Given the description of an element on the screen output the (x, y) to click on. 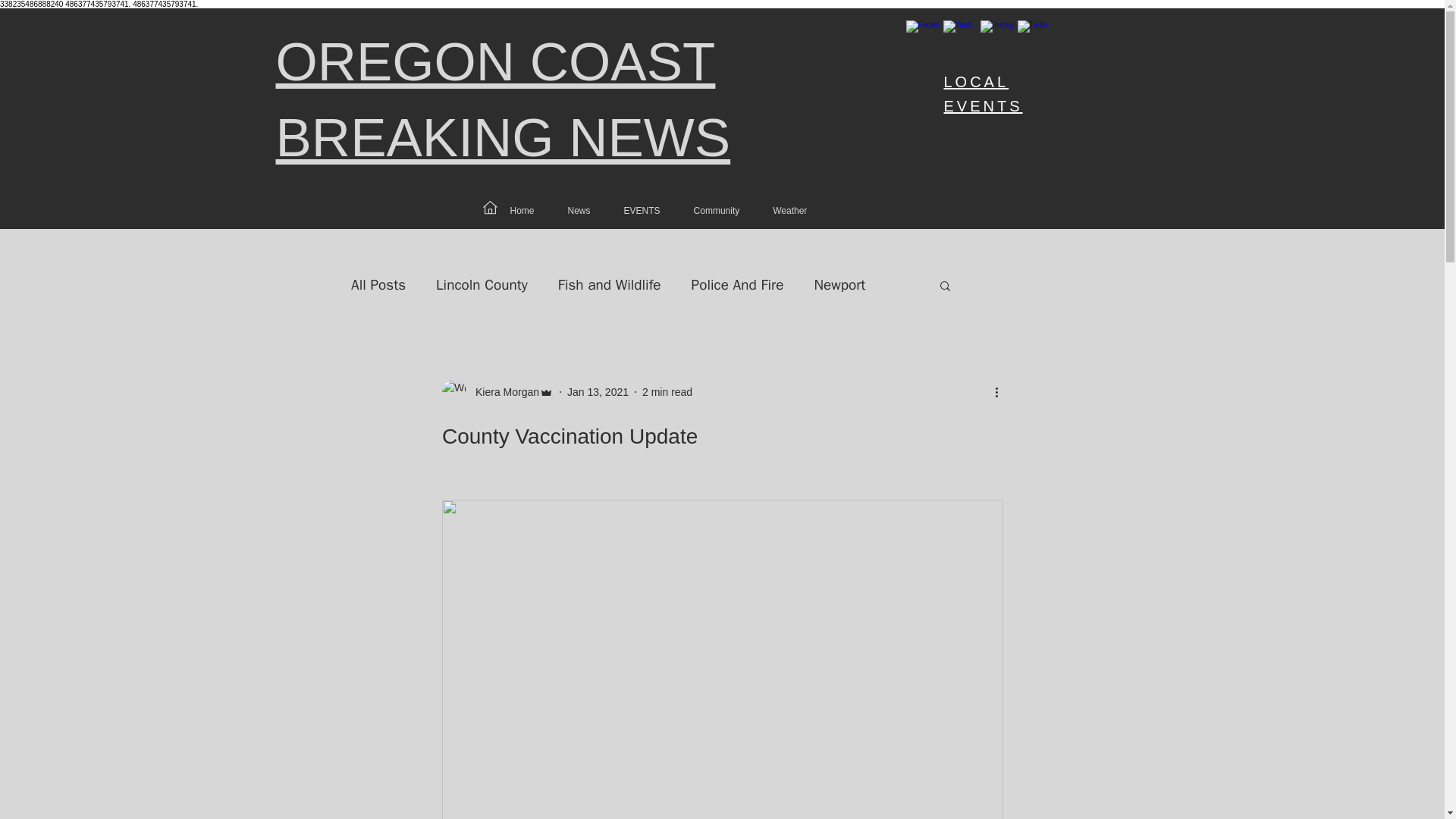
All Posts (378, 284)
Kiera Morgan (501, 392)
2 min read (667, 391)
Weather (789, 210)
Lincoln County (481, 284)
Police And Fire (737, 284)
EVENTS (642, 210)
Newport (838, 284)
Fish and Wildlife (609, 284)
OREGON COAST BREAKING NEWS (503, 99)
